Given the description of an element on the screen output the (x, y) to click on. 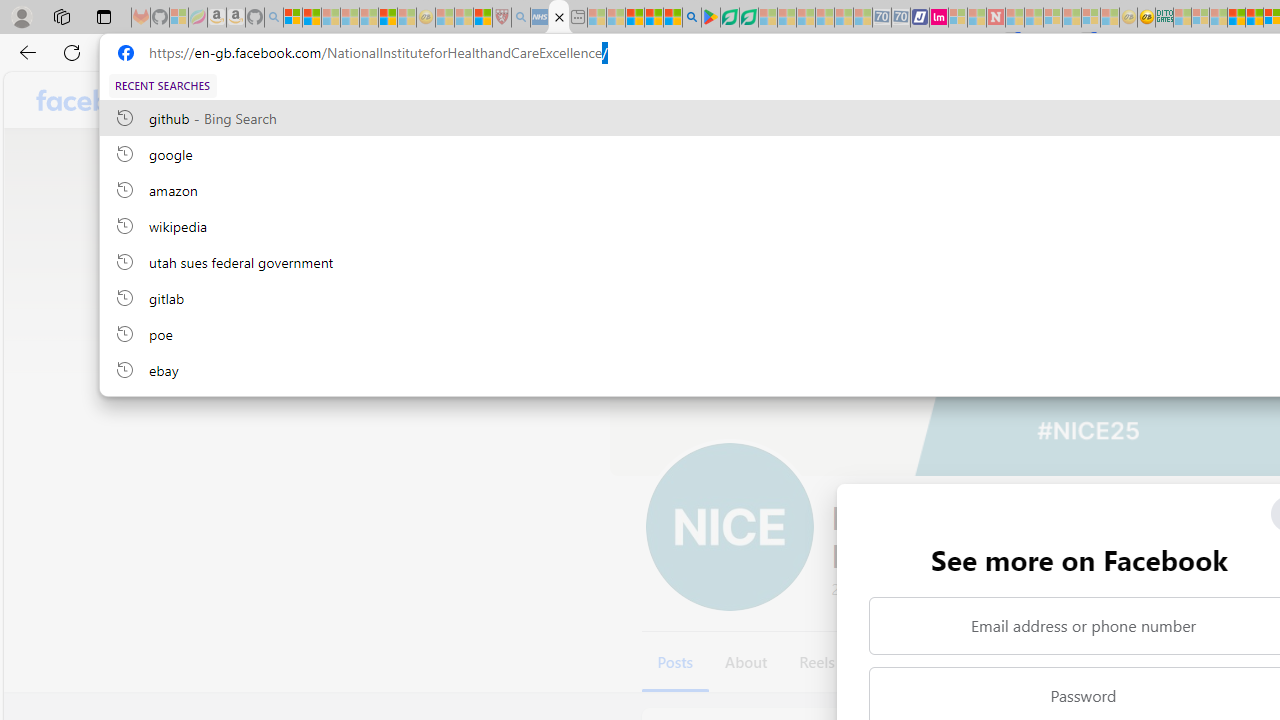
Microsoft account | Privacy (293, 17)
The Weather Channel - MSN - Sleeping (331, 17)
Kinda Frugal - MSN (1254, 17)
Pets - MSN (654, 17)
Microsoft-Report a Concern to Bing - Sleeping (179, 17)
Trusted Community Engagement and Contributions | Guidelines (1014, 17)
Bluey: Let's Play! - Apps on Google Play (710, 17)
Jobs - lastminute.com Investor Portal (939, 17)
14 Common Myths Debunked By Scientific Facts - Sleeping (1034, 17)
Latest Politics News & Archive | Newsweek.com - Sleeping (995, 17)
